Given the description of an element on the screen output the (x, y) to click on. 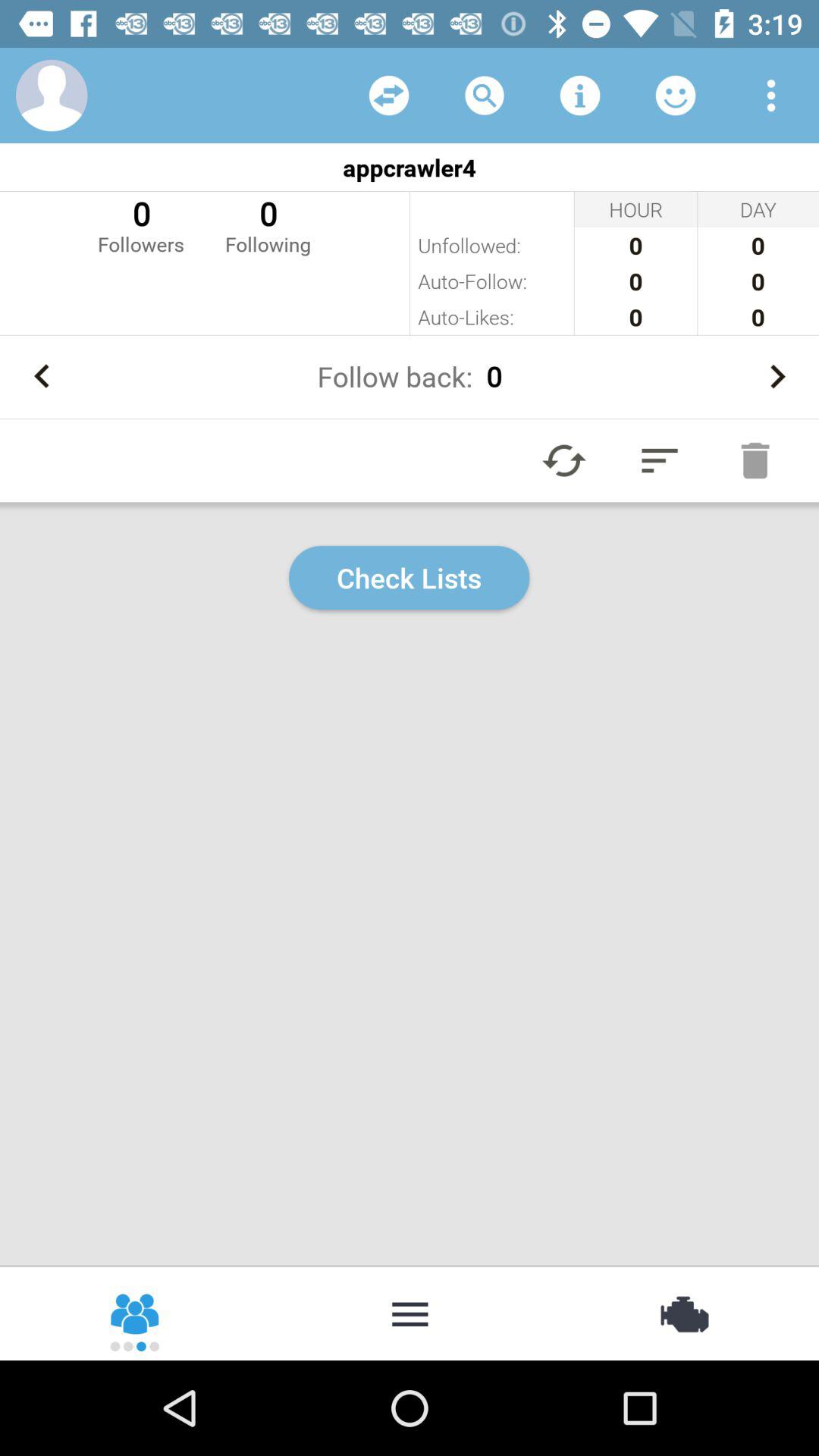
select item at the bottom right corner (683, 1312)
